Given the description of an element on the screen output the (x, y) to click on. 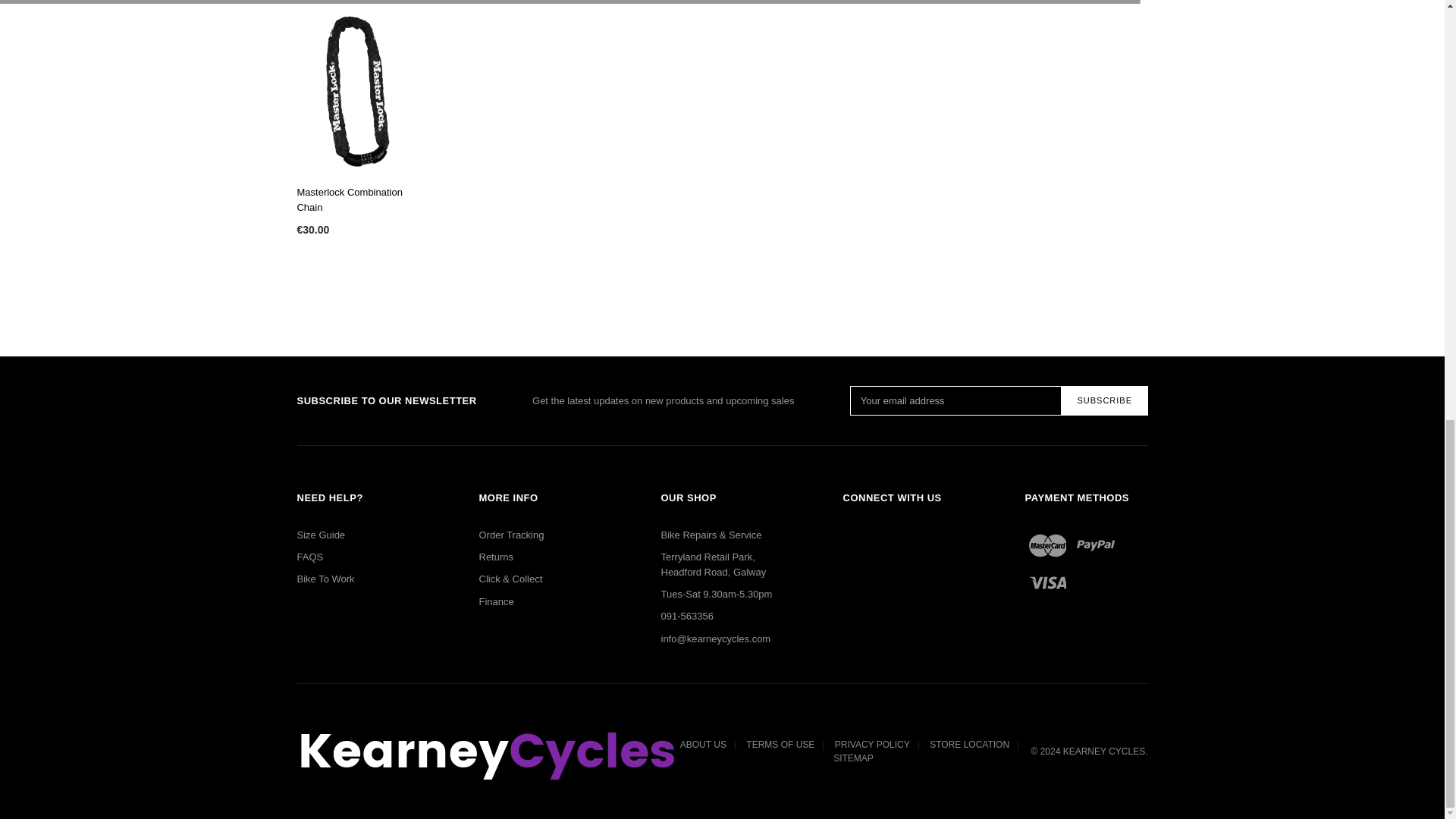
Subscribe (1104, 400)
Kearney Cycles (487, 751)
